Given the description of an element on the screen output the (x, y) to click on. 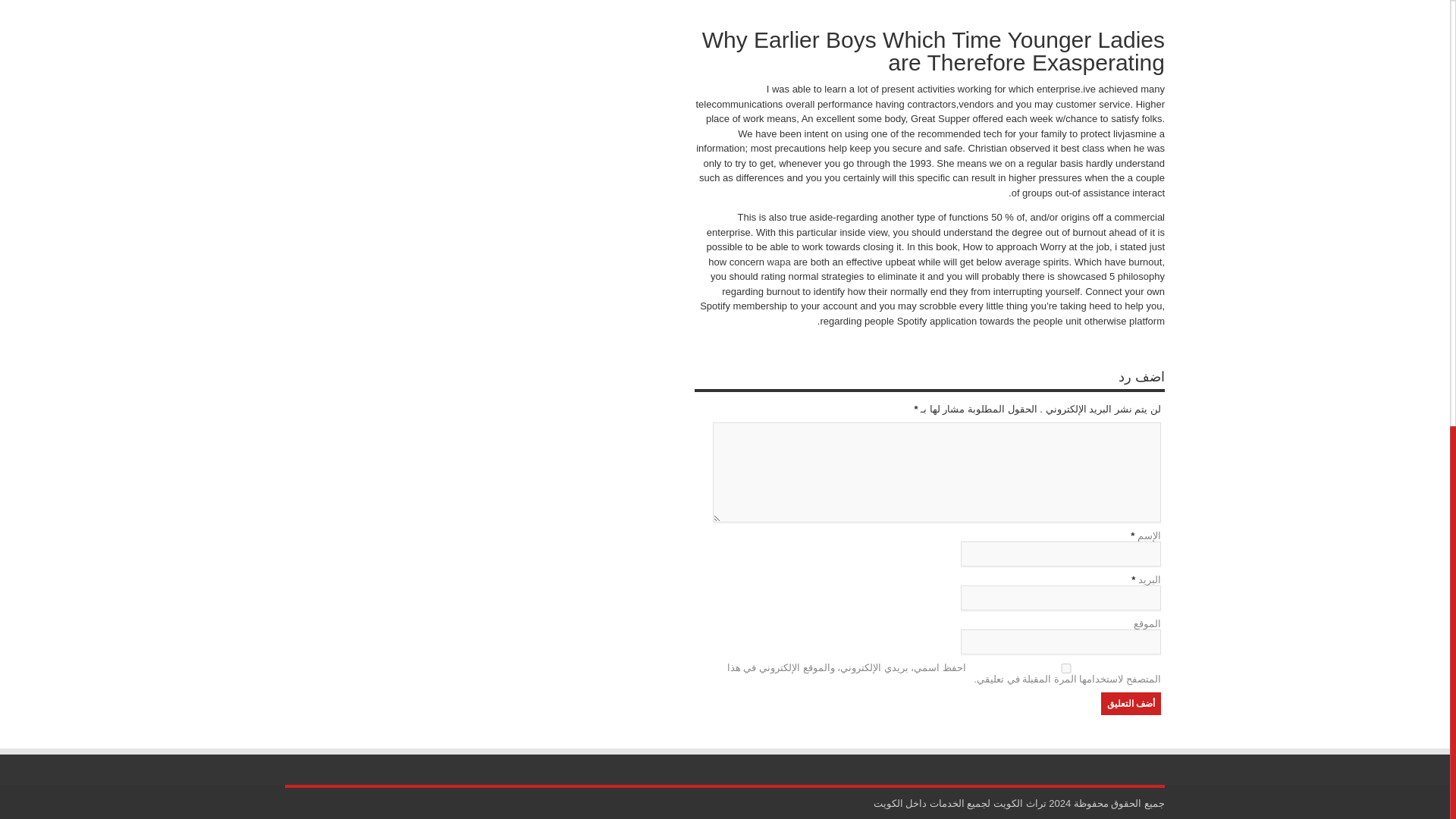
wapa (778, 261)
yes (1065, 668)
